Given the description of an element on the screen output the (x, y) to click on. 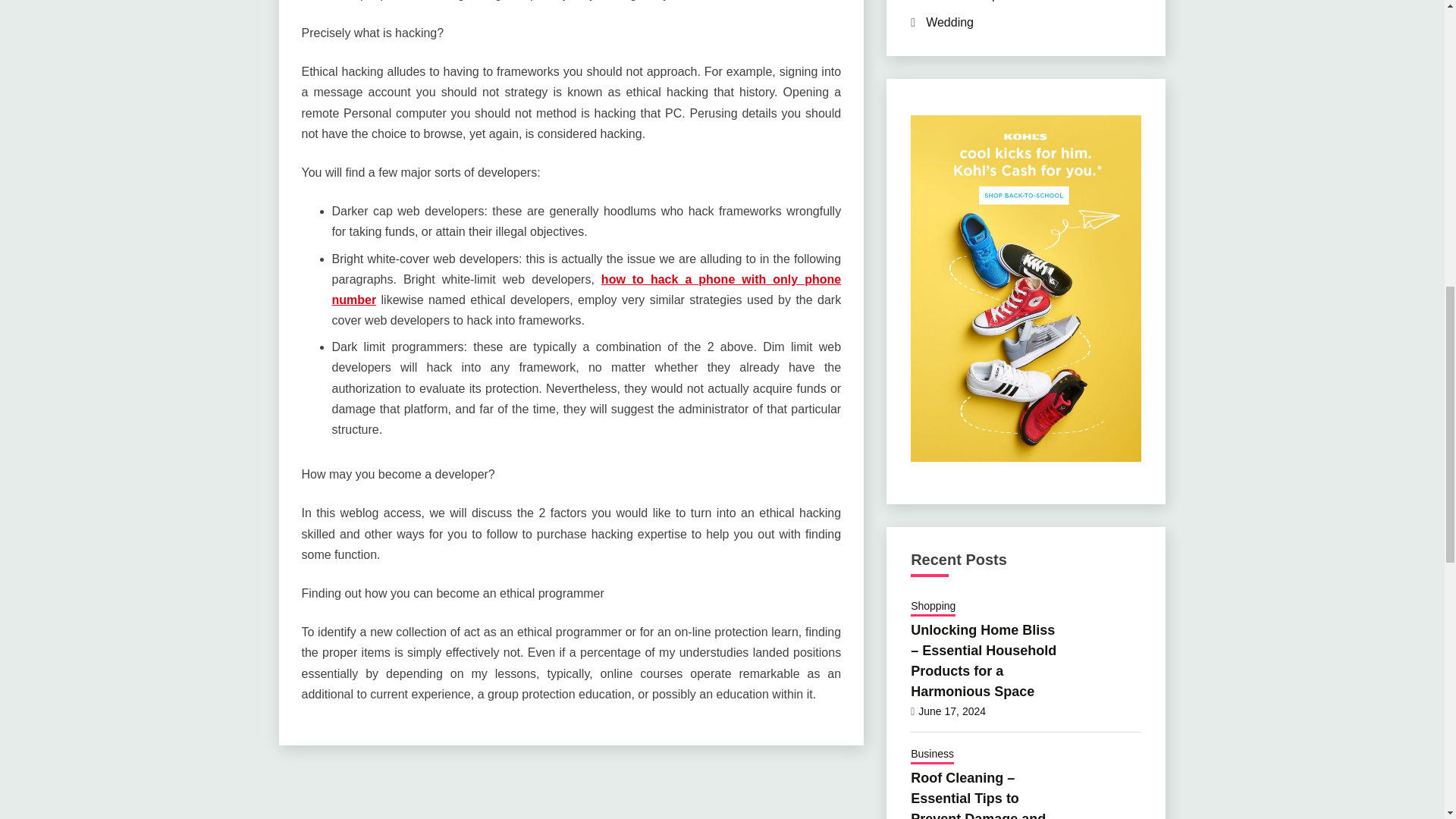
Shopping (933, 607)
June 17, 2024 (951, 711)
Wedding (950, 21)
how to hack a phone with only phone number (586, 289)
Web Development (975, 0)
